Given the description of an element on the screen output the (x, y) to click on. 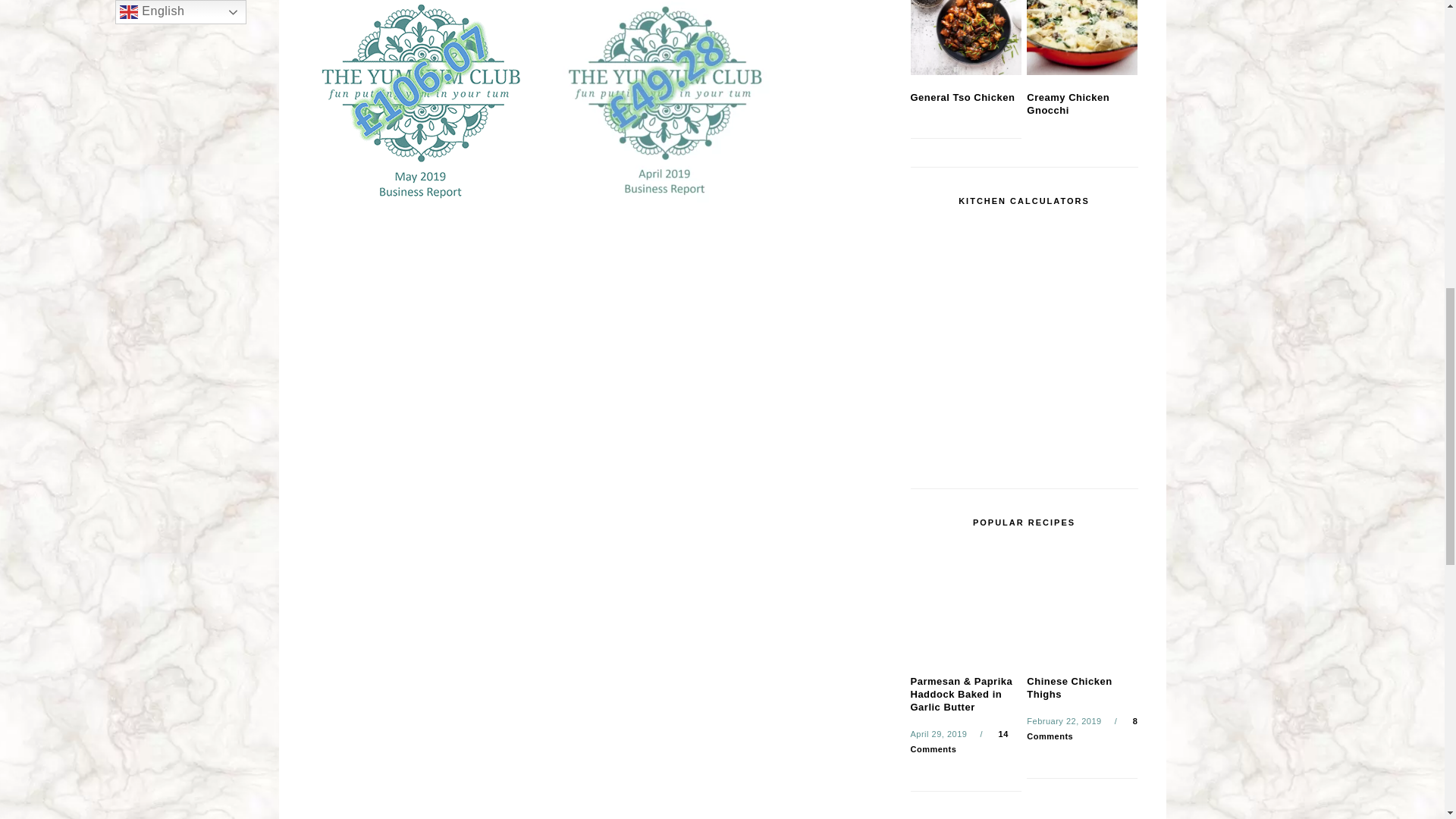
14 Comments (958, 741)
Creamy Chicken Gnocchi (1081, 37)
Creamy Chicken Gnocchi (1067, 103)
General Tso Chicken (962, 97)
General Tso Chicken (965, 37)
Chinese Chicken Thighs (1081, 603)
